Given the description of an element on the screen output the (x, y) to click on. 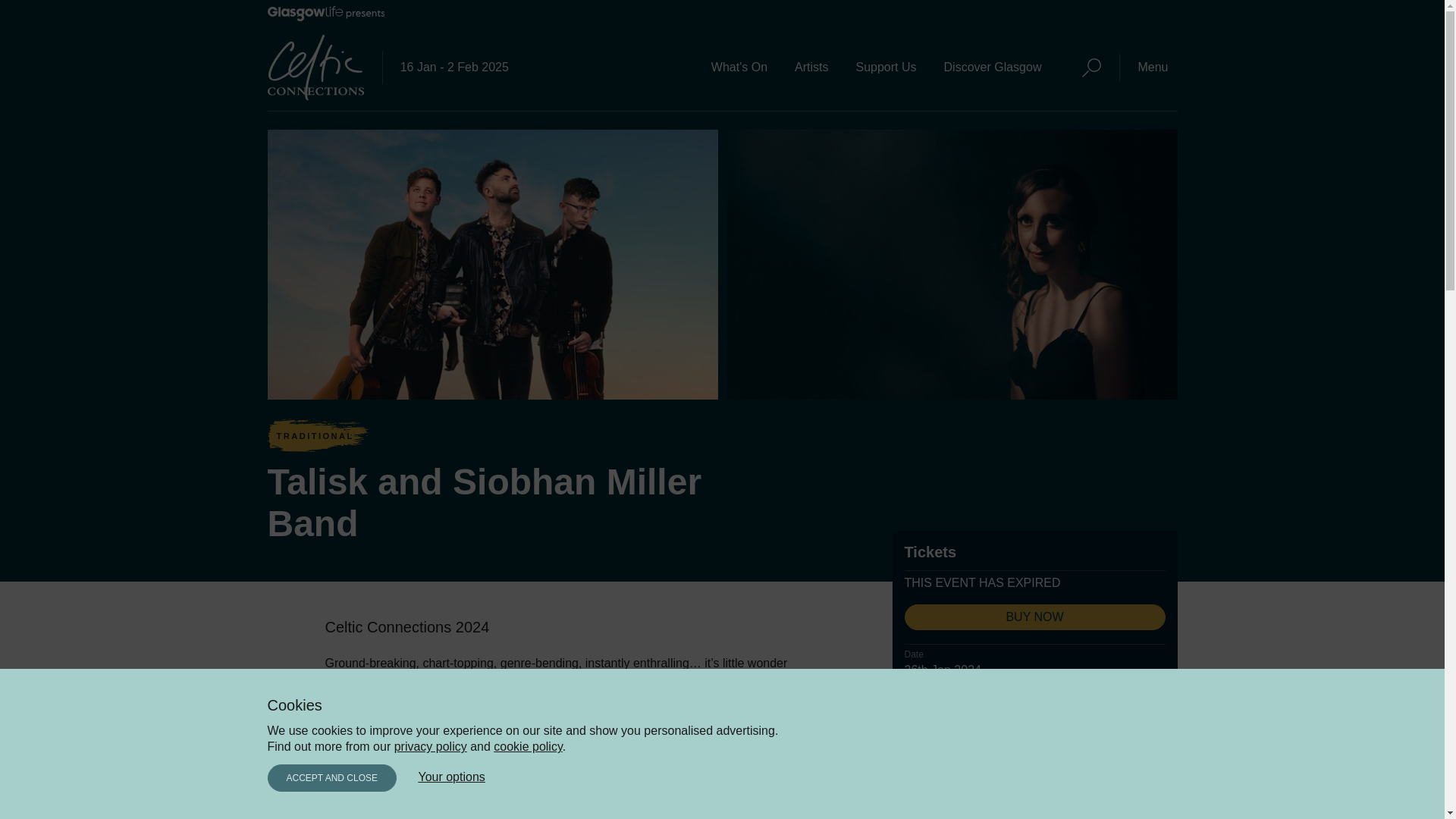
Your options (450, 777)
cookie policy (527, 746)
privacy policy (430, 746)
ACCEPT AND CLOSE (331, 777)
Artists (811, 67)
Glasgow Life presents (325, 13)
What's On (738, 67)
Support Us (884, 67)
Glasgow Life presents (325, 16)
Discover Glasgow (992, 67)
Menu (1152, 67)
